Given the description of an element on the screen output the (x, y) to click on. 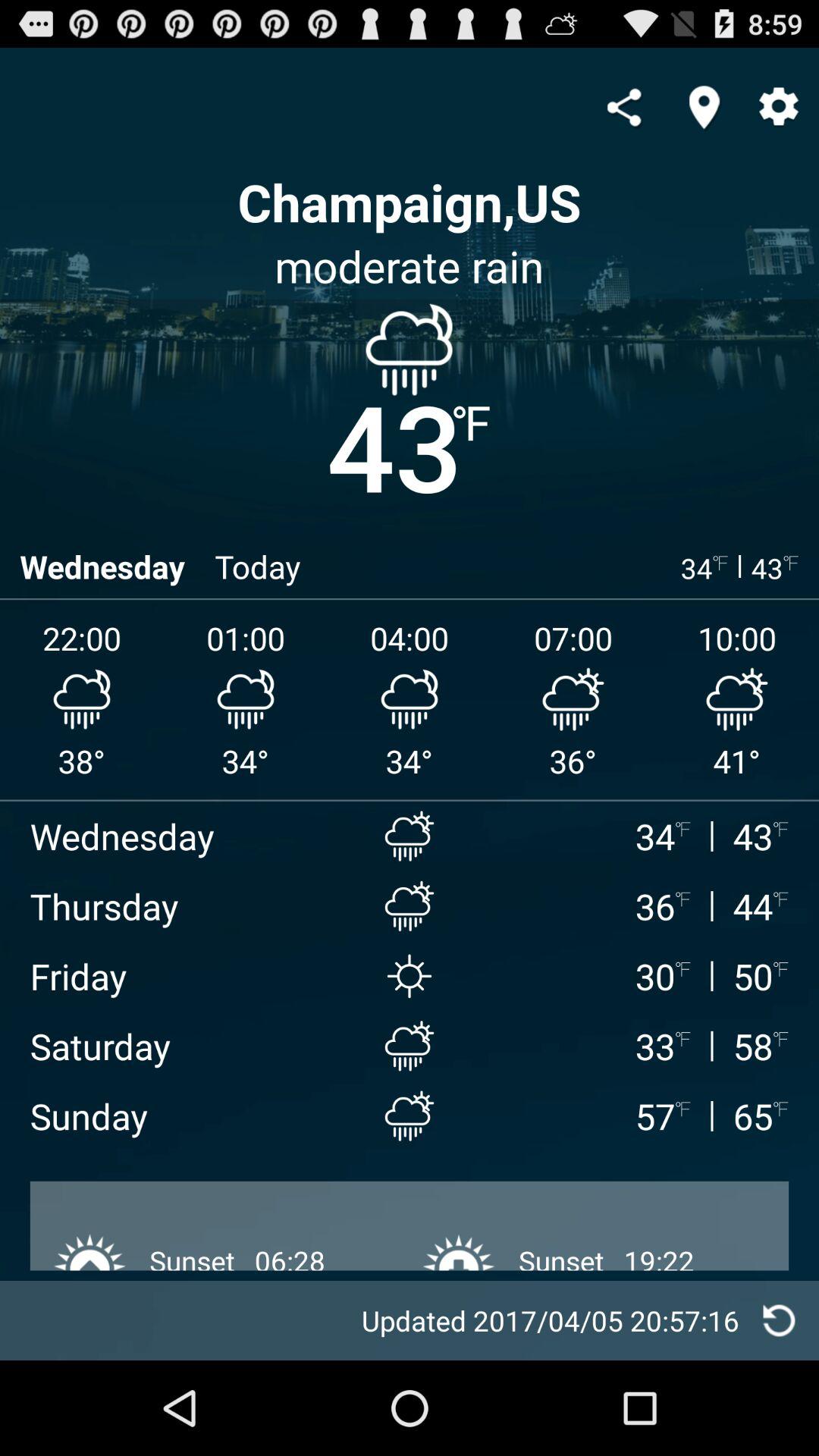
settings icon (779, 107)
